Given the description of an element on the screen output the (x, y) to click on. 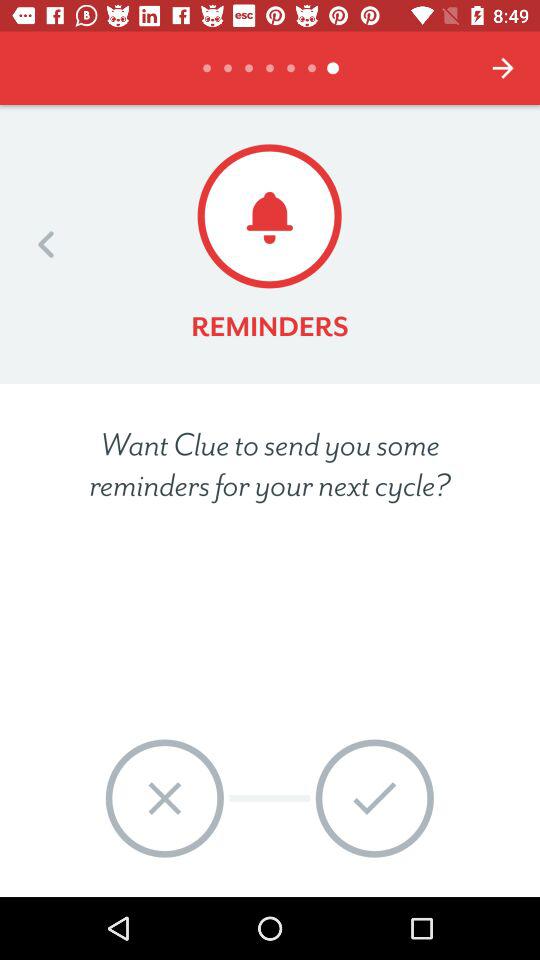
open the icon at the top right corner (503, 68)
